Given the description of an element on the screen output the (x, y) to click on. 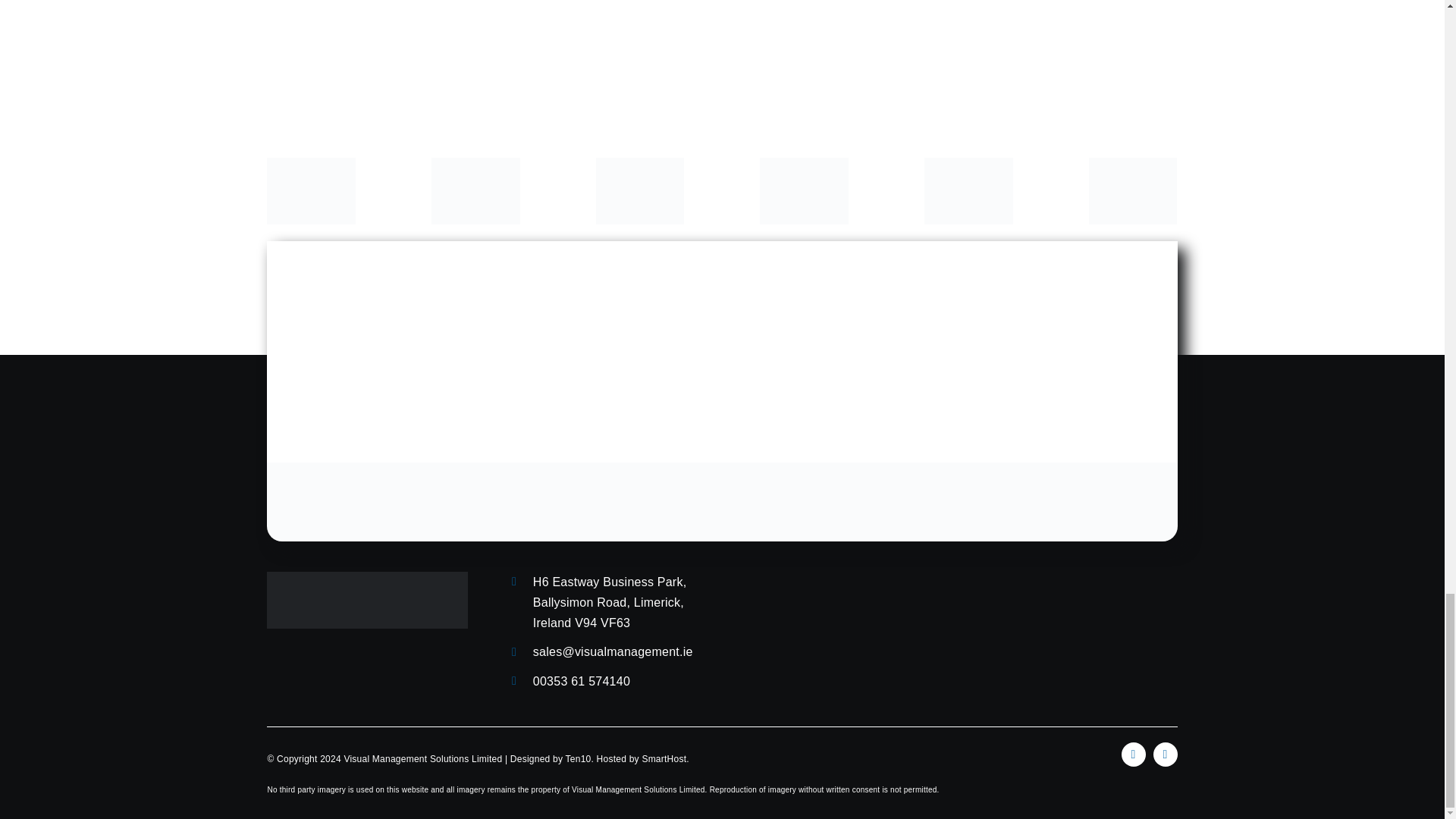
LinkedIn (1133, 753)
Ten10 (578, 758)
Email (1165, 753)
Loto-Banner-3 (721, 501)
00353 61 574140 (581, 680)
SmartHost (663, 758)
